Given the description of an element on the screen output the (x, y) to click on. 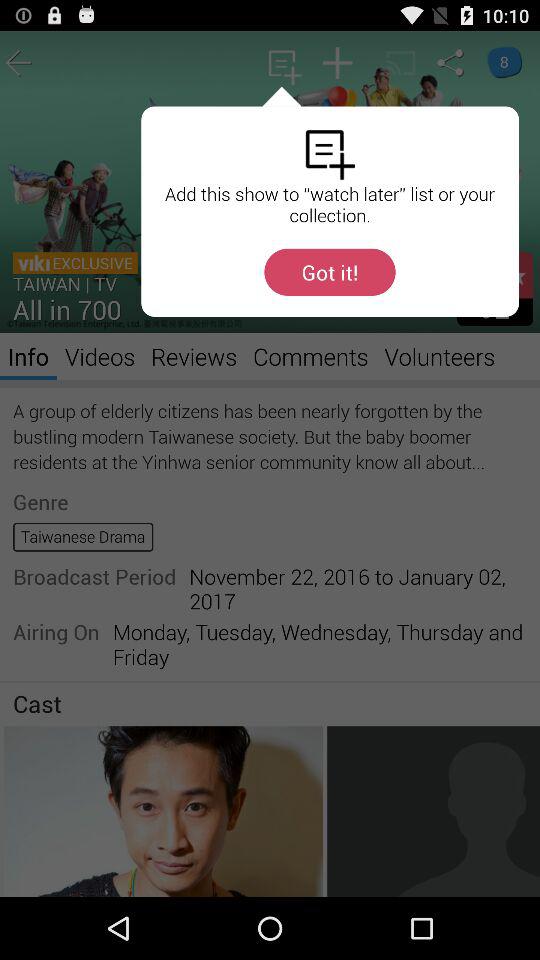
flip until got it! icon (329, 271)
